Given the description of an element on the screen output the (x, y) to click on. 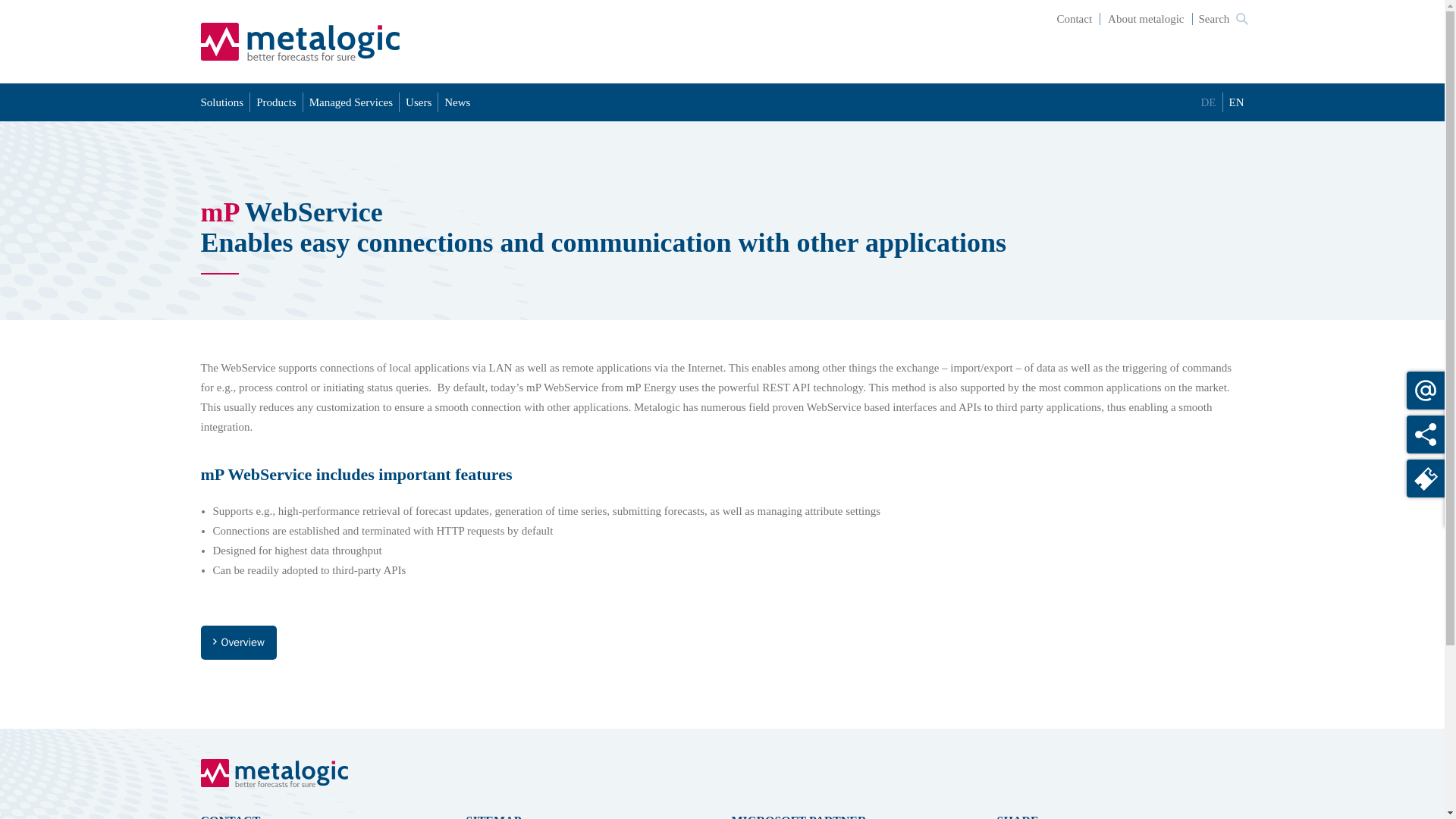
News (457, 102)
Managed Services (350, 102)
metalogic GmbH - Better forecasts for the energy industry (299, 41)
DE (1209, 102)
EN (1233, 102)
About metalogic (1146, 19)
Overview (238, 642)
Solutions (225, 102)
About metalogic (1146, 19)
Products (276, 102)
Contact (1074, 19)
Contact (1074, 19)
Overview (238, 642)
Users (418, 102)
